Given the description of an element on the screen output the (x, y) to click on. 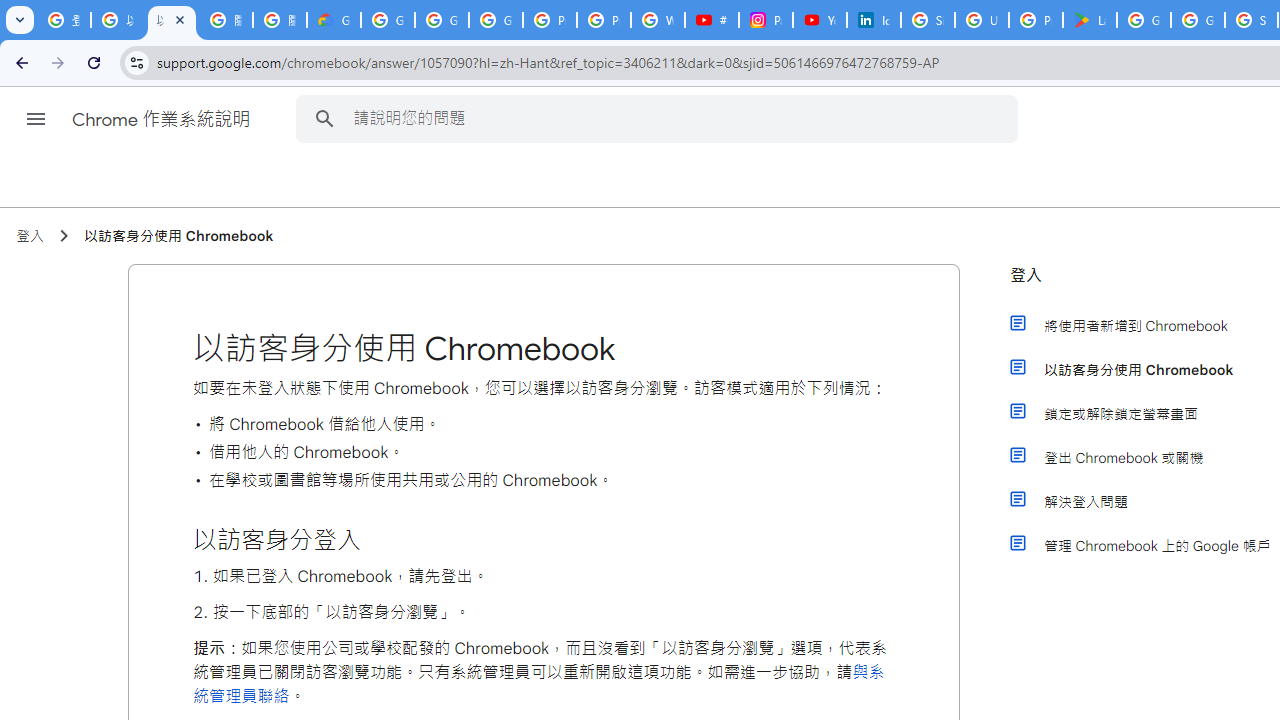
YouTube Culture & Trends - On The Rise: Handcam Videos (819, 20)
Sign in - Google Accounts (927, 20)
